Given the description of an element on the screen output the (x, y) to click on. 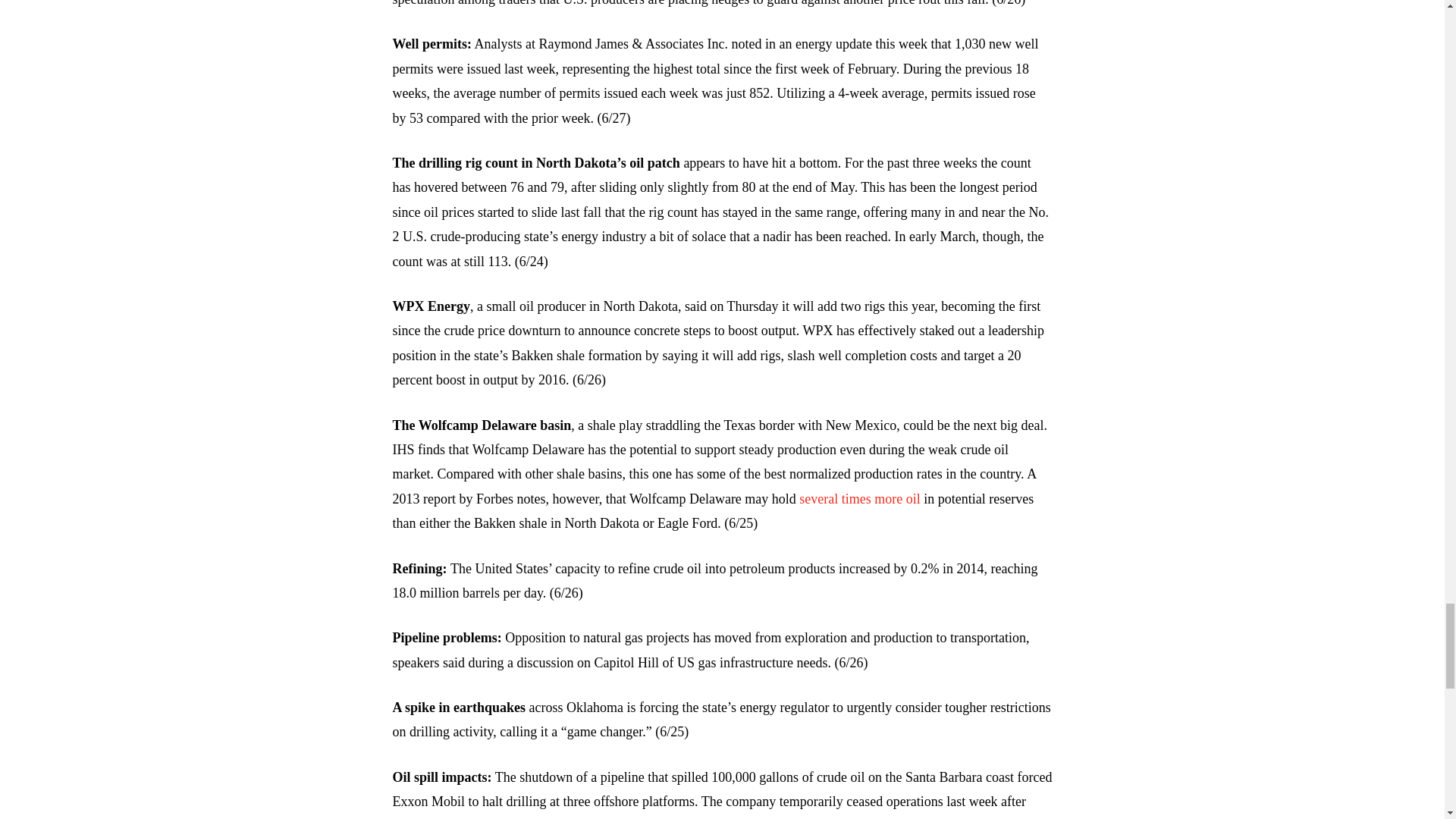
several times more oil (859, 498)
